Given the description of an element on the screen output the (x, y) to click on. 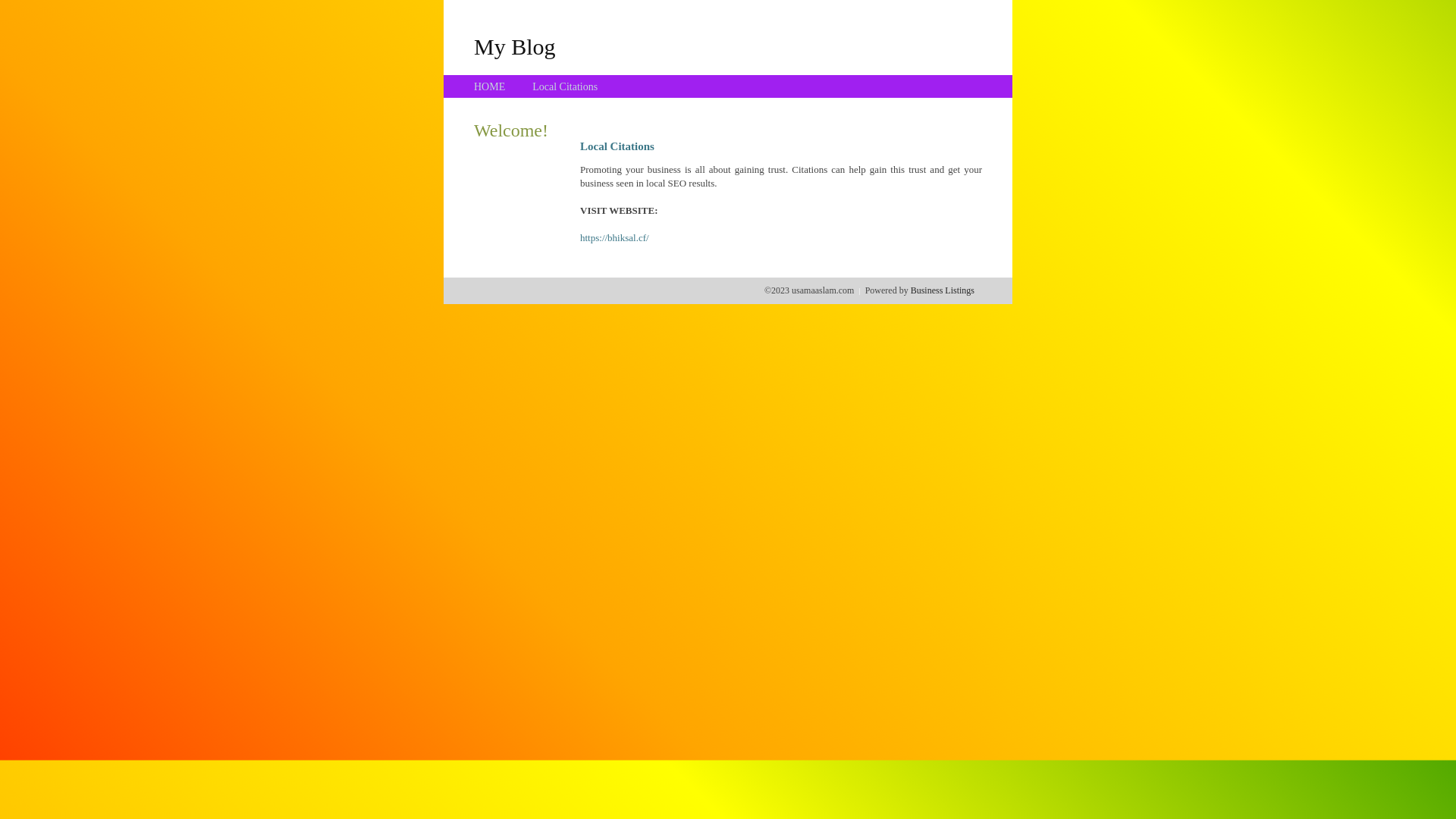
My Blog Element type: text (514, 46)
Business Listings Element type: text (942, 290)
HOME Element type: text (489, 86)
Local Citations Element type: text (564, 86)
https://bhiksal.cf/ Element type: text (614, 237)
